Given the description of an element on the screen output the (x, y) to click on. 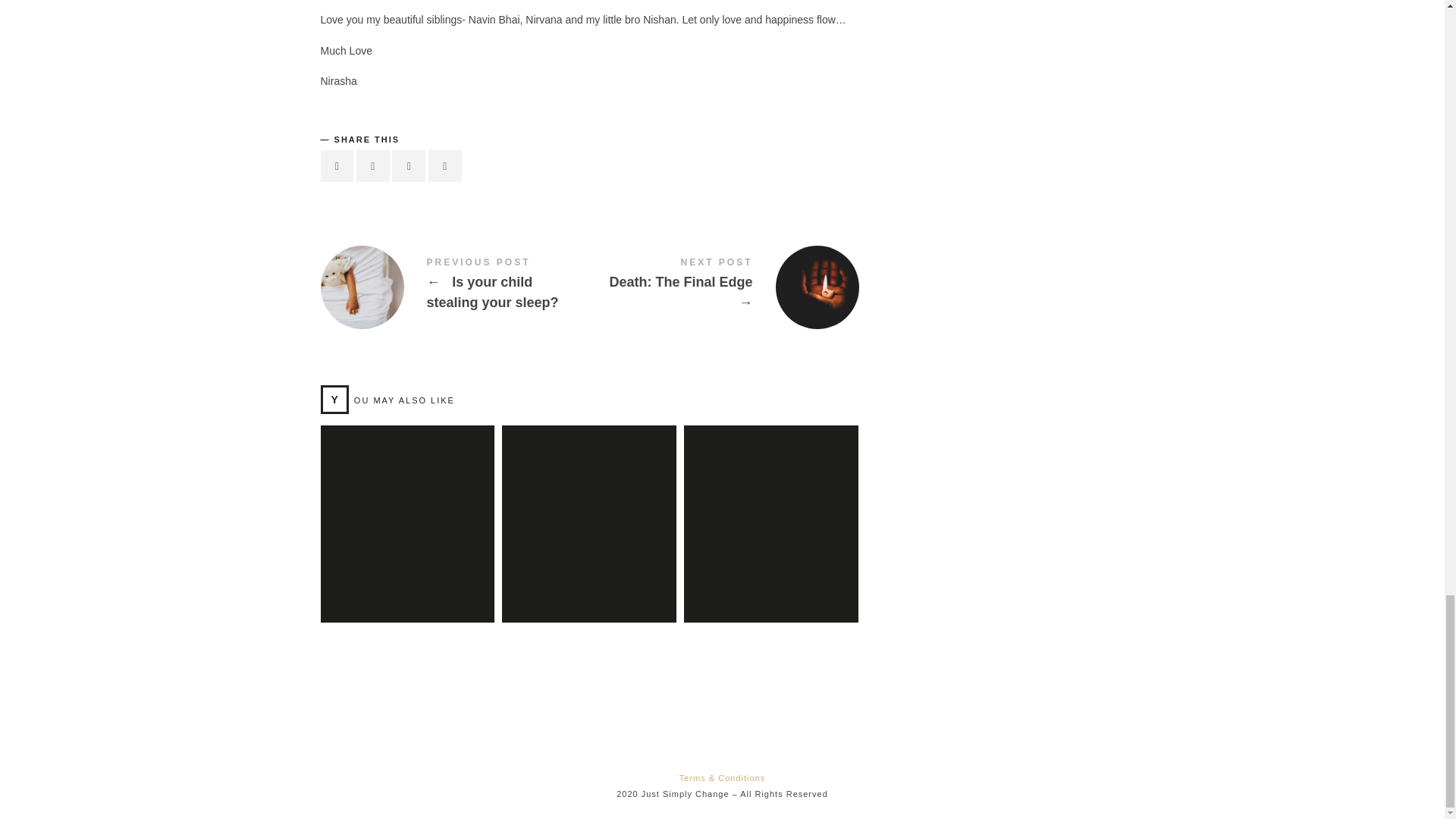
Tweet this post to your followers (373, 165)
Is your child stealing your sleep? (454, 287)
Pin it (408, 165)
Email this post to a friend (444, 165)
Share this post on Facebook (336, 165)
Death: The Final Edge (724, 287)
